Given the description of an element on the screen output the (x, y) to click on. 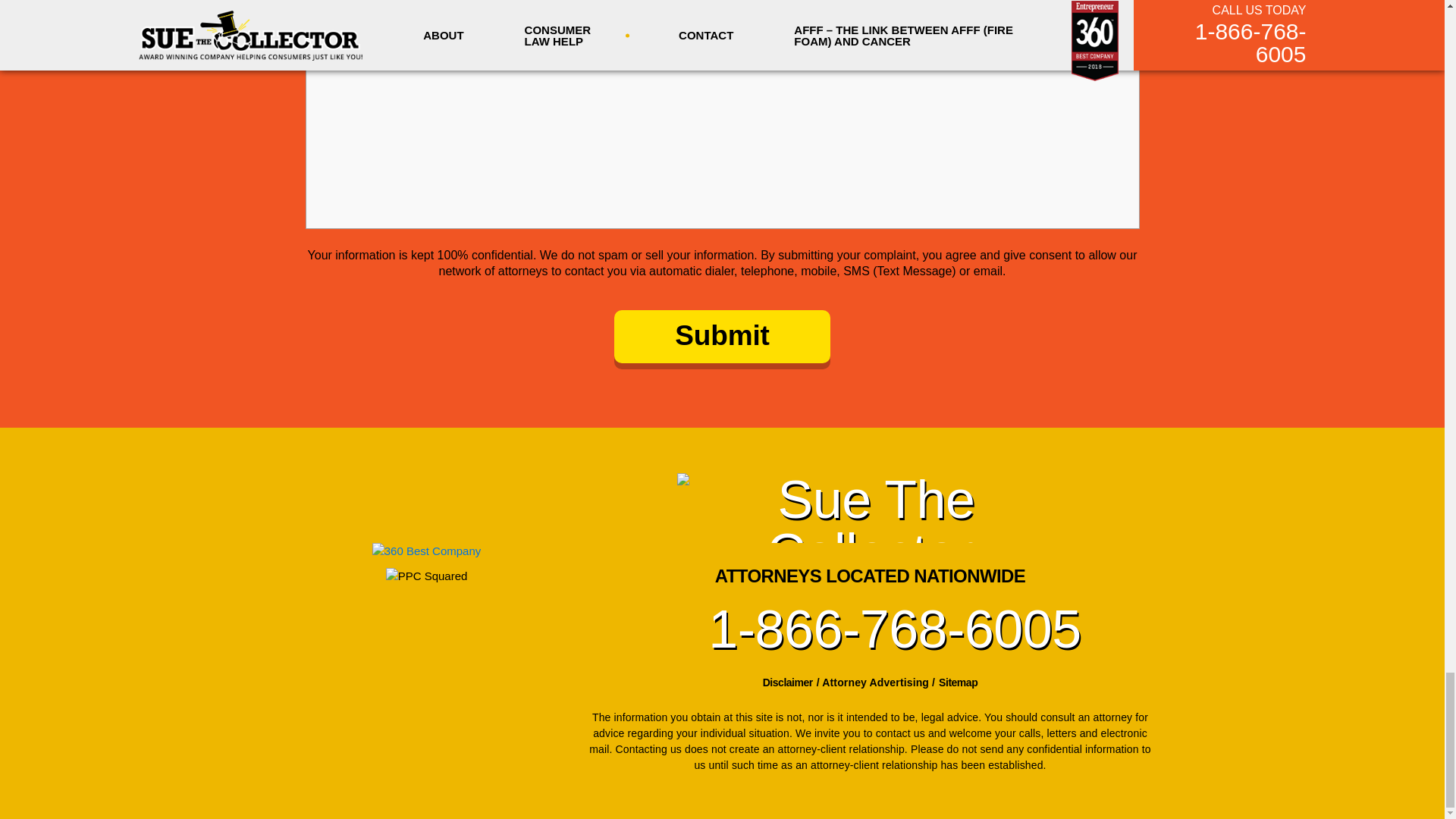
1-866-768-6005 (869, 629)
Sue The Collector (869, 507)
360 Badge Best Company 2018 (426, 543)
Submit (721, 336)
360 Best Company (426, 551)
